Given the description of an element on the screen output the (x, y) to click on. 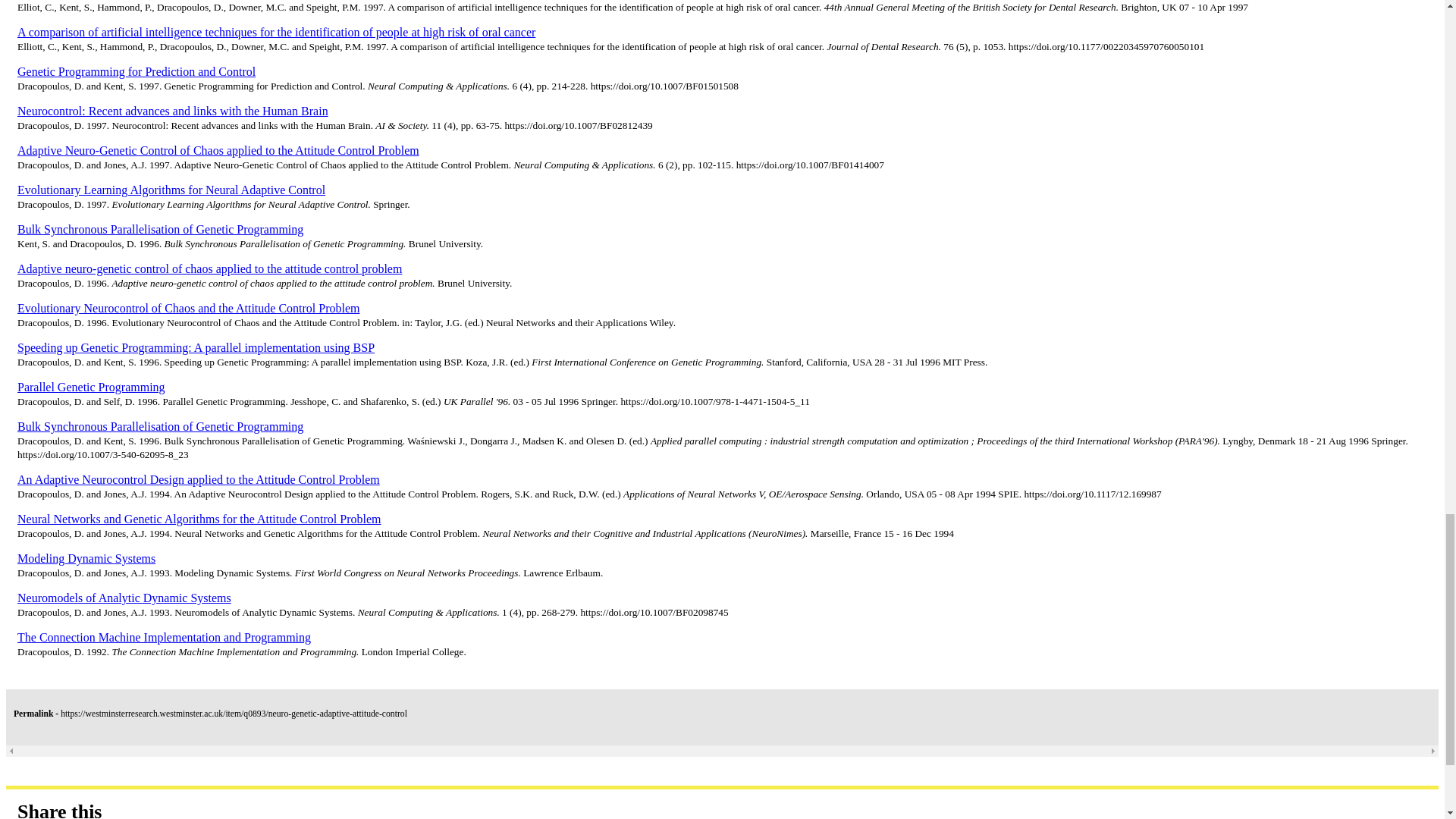
Evolutionary Learning Algorithms for Neural Adaptive Control (170, 189)
Genetic Programming for Prediction and Control (136, 71)
Neurocontrol: Recent advances and links with the Human Brain (173, 110)
